Given the description of an element on the screen output the (x, y) to click on. 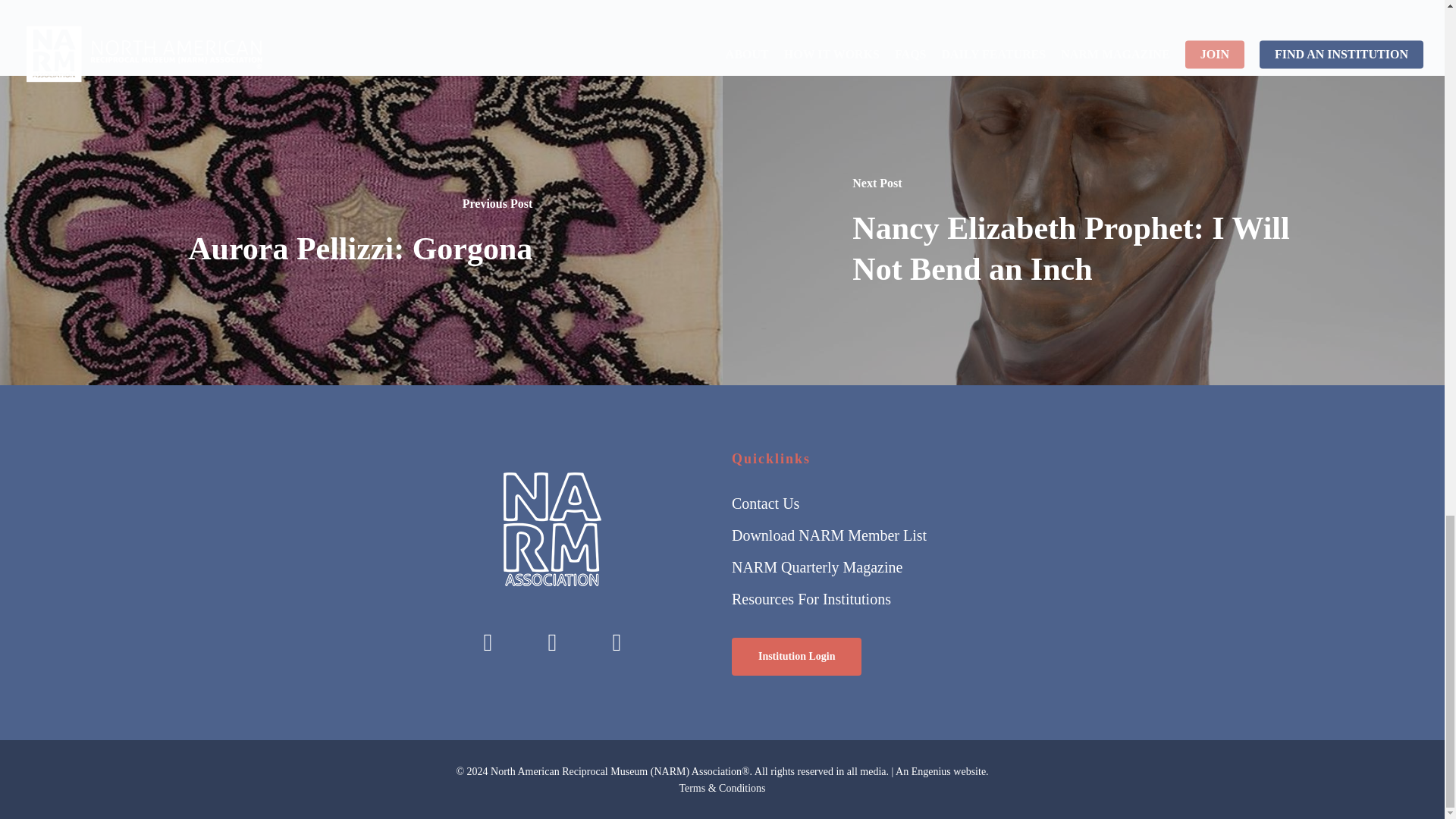
Download NARM Member List (962, 534)
Facebook (487, 642)
instagram (551, 642)
Instagram (551, 642)
Contact Us (962, 503)
Default Label (616, 642)
Institution Login (796, 656)
facebook (487, 642)
pinterest (616, 642)
Engenius (930, 771)
NARM Quarterly Magazine (962, 566)
Resources For Institutions (962, 598)
